Given the description of an element on the screen output the (x, y) to click on. 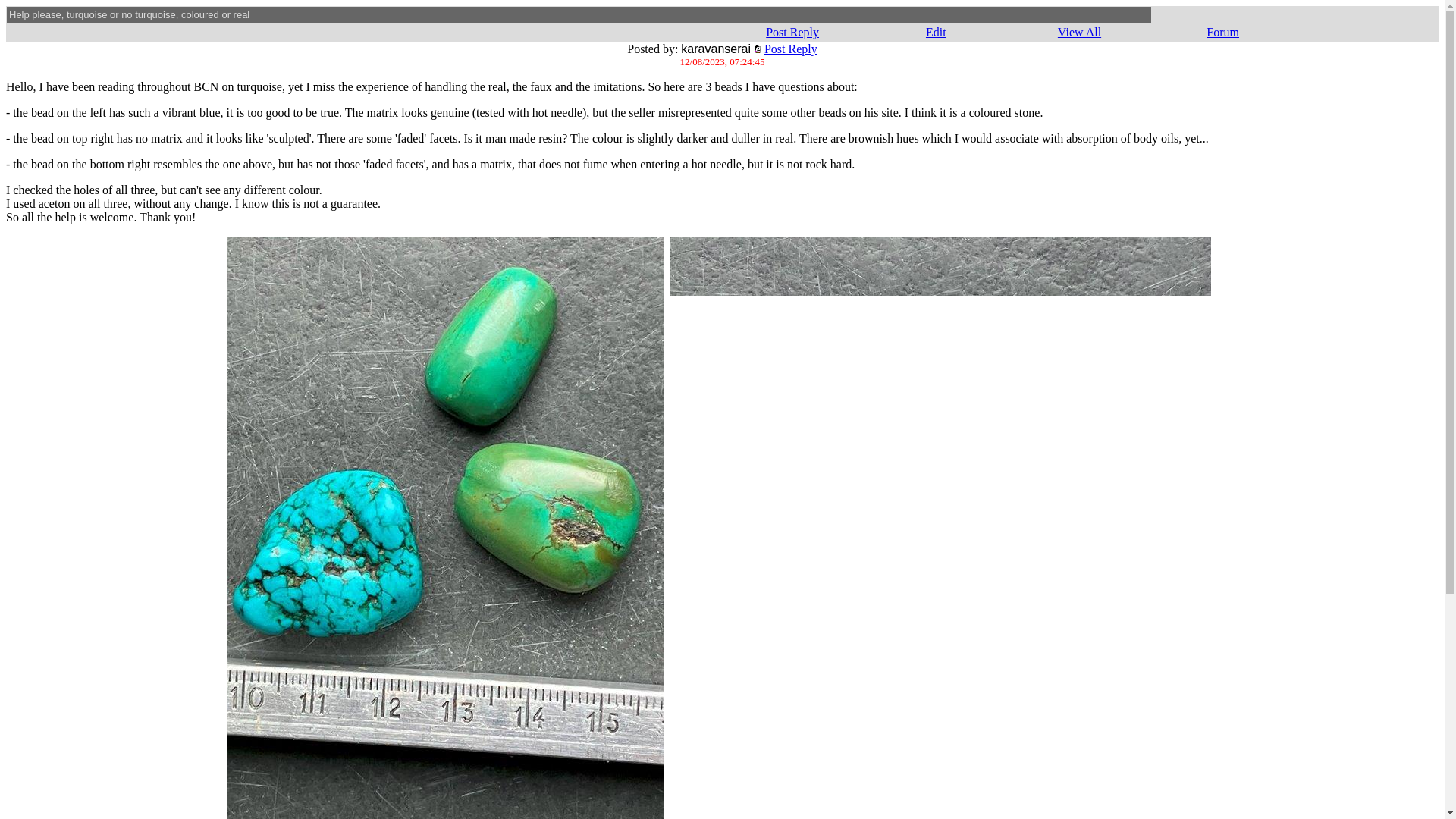
Edit (936, 31)
View All (1079, 31)
Post Reply (791, 31)
Post Reply (790, 48)
Forum (1223, 31)
